Given the description of an element on the screen output the (x, y) to click on. 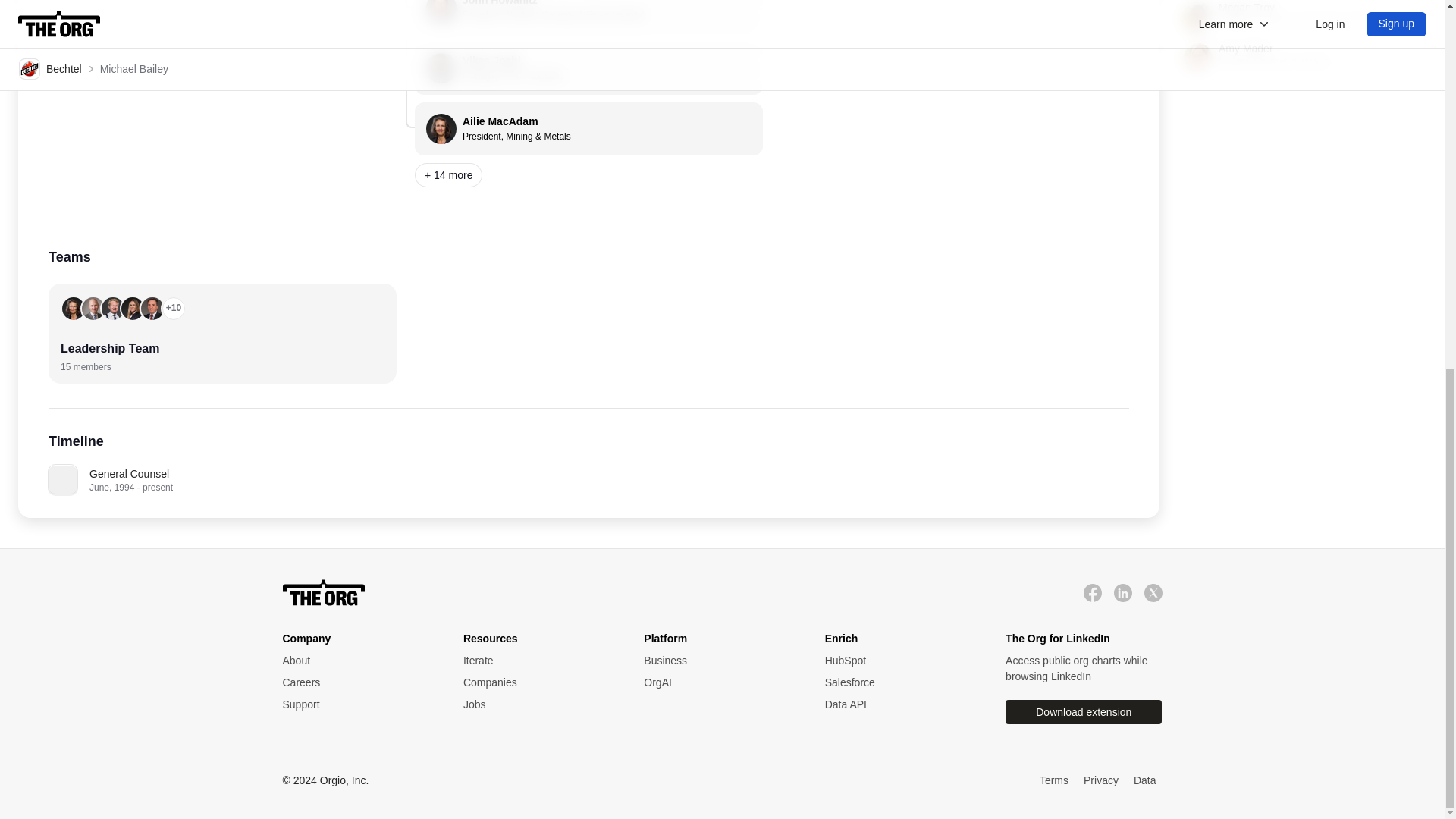
Careers (588, 68)
Salesforce (357, 682)
OrgAI (900, 682)
Support (718, 682)
Salesforce (357, 704)
Support (900, 682)
The Org logo (357, 704)
Facebook (323, 592)
About (1091, 592)
Iterate (357, 660)
Companies (537, 660)
Careers (537, 682)
Jobs (357, 682)
Business (537, 704)
